Given the description of an element on the screen output the (x, y) to click on. 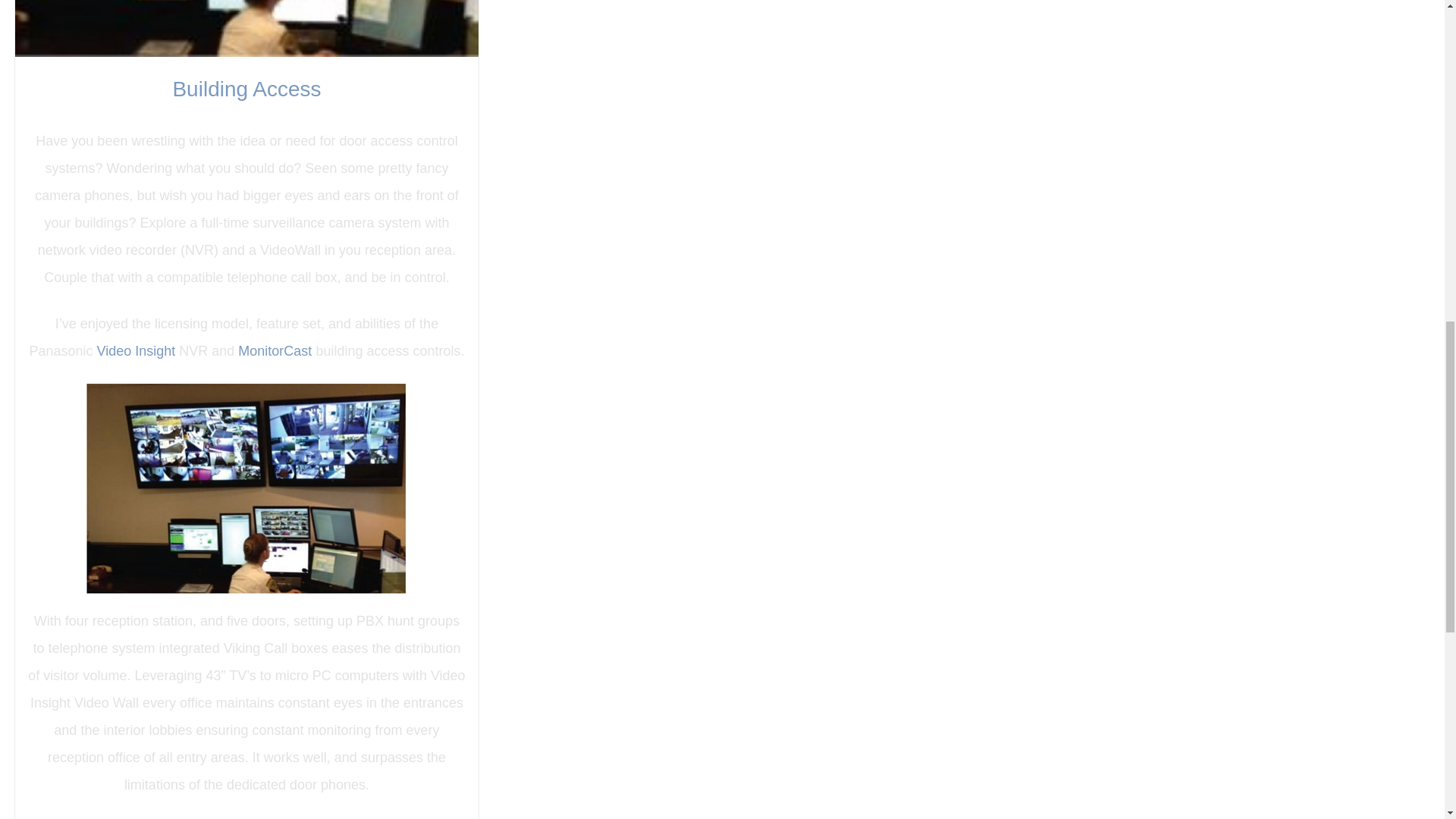
Video Insight (138, 350)
MonitorCast (274, 350)
Building Access (245, 88)
